Given the description of an element on the screen output the (x, y) to click on. 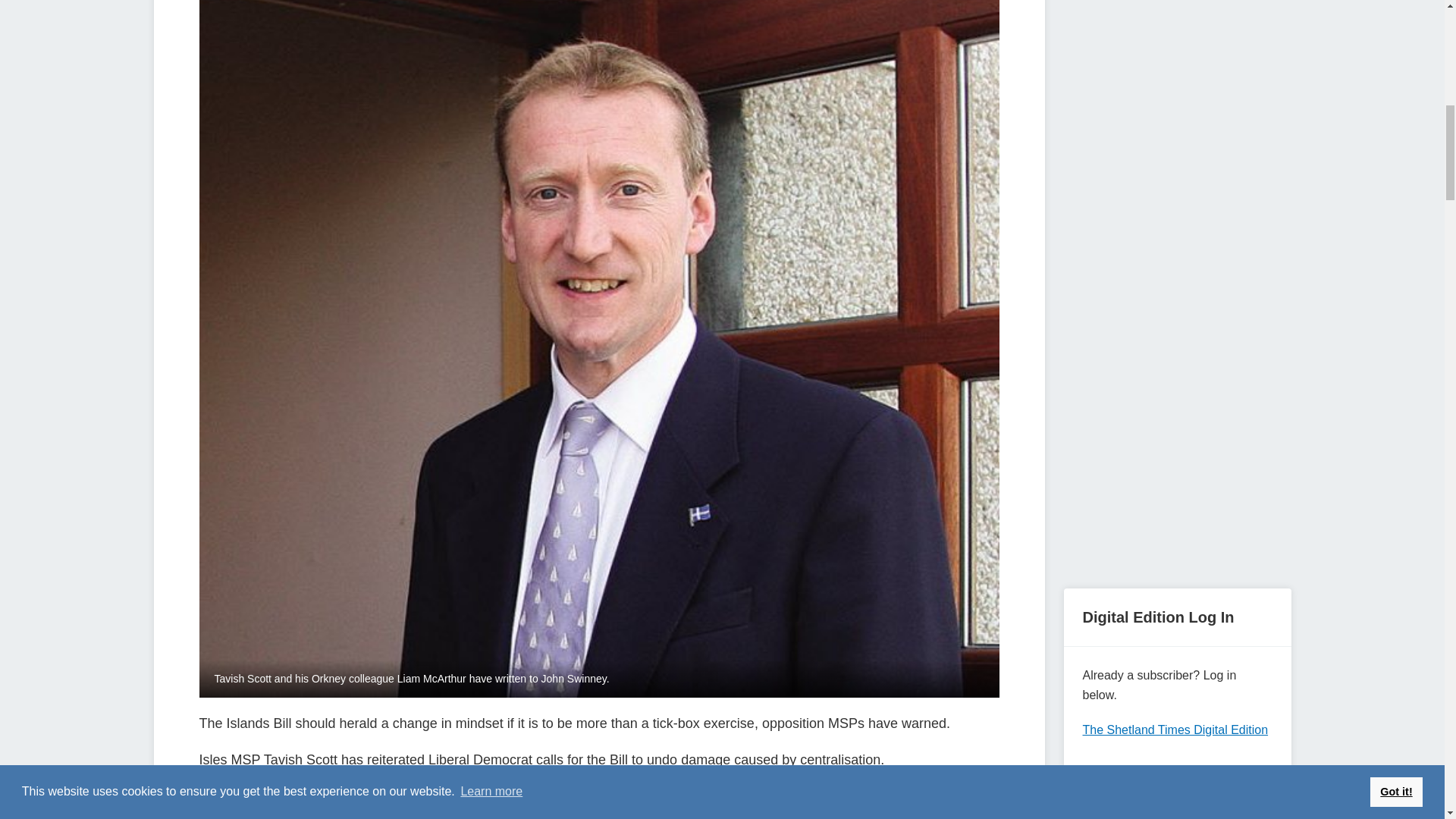
3rd party ad content (1176, 63)
3rd party ad content (1176, 243)
3rd party ad content (1176, 455)
